Given the description of an element on the screen output the (x, y) to click on. 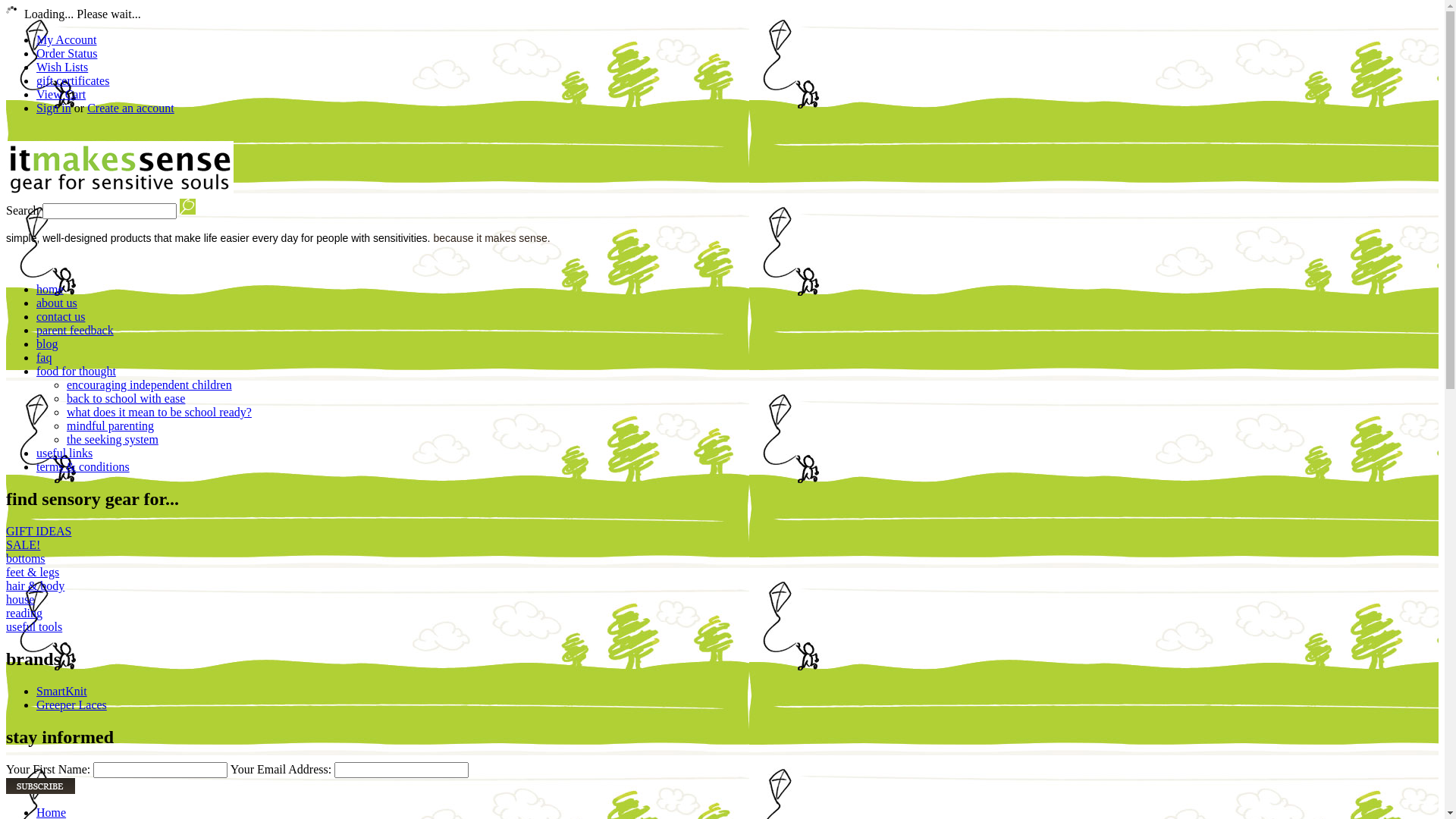
Sign in Element type: text (53, 107)
SALE! Element type: text (66, 545)
parent feedback Element type: text (74, 329)
faq Element type: text (43, 357)
the seeking system Element type: text (112, 439)
GIFT IDEAS Element type: text (66, 531)
My Account Element type: text (66, 39)
what does it mean to be school ready? Element type: text (158, 411)
terms & conditions Element type: text (82, 466)
View Cart Element type: text (60, 93)
Create an account Element type: text (130, 107)
SmartKnit Element type: text (61, 690)
contact us Element type: text (60, 316)
useful tools Element type: text (66, 626)
blog Element type: text (46, 343)
gift certificates Element type: text (72, 80)
feet & legs Element type: text (66, 572)
Wish Lists Element type: text (61, 66)
mindful parenting Element type: text (109, 425)
hair & body Element type: text (66, 586)
Order Status Element type: text (66, 53)
about us Element type: text (56, 302)
Greeper Laces Element type: text (71, 704)
back to school with ease Element type: text (125, 398)
useful links Element type: text (64, 452)
food for thought Element type: text (76, 370)
encouraging independent children Element type: text (149, 384)
bottoms Element type: text (66, 558)
house Element type: text (66, 599)
reading Element type: text (66, 613)
home Element type: text (49, 288)
